Given the description of an element on the screen output the (x, y) to click on. 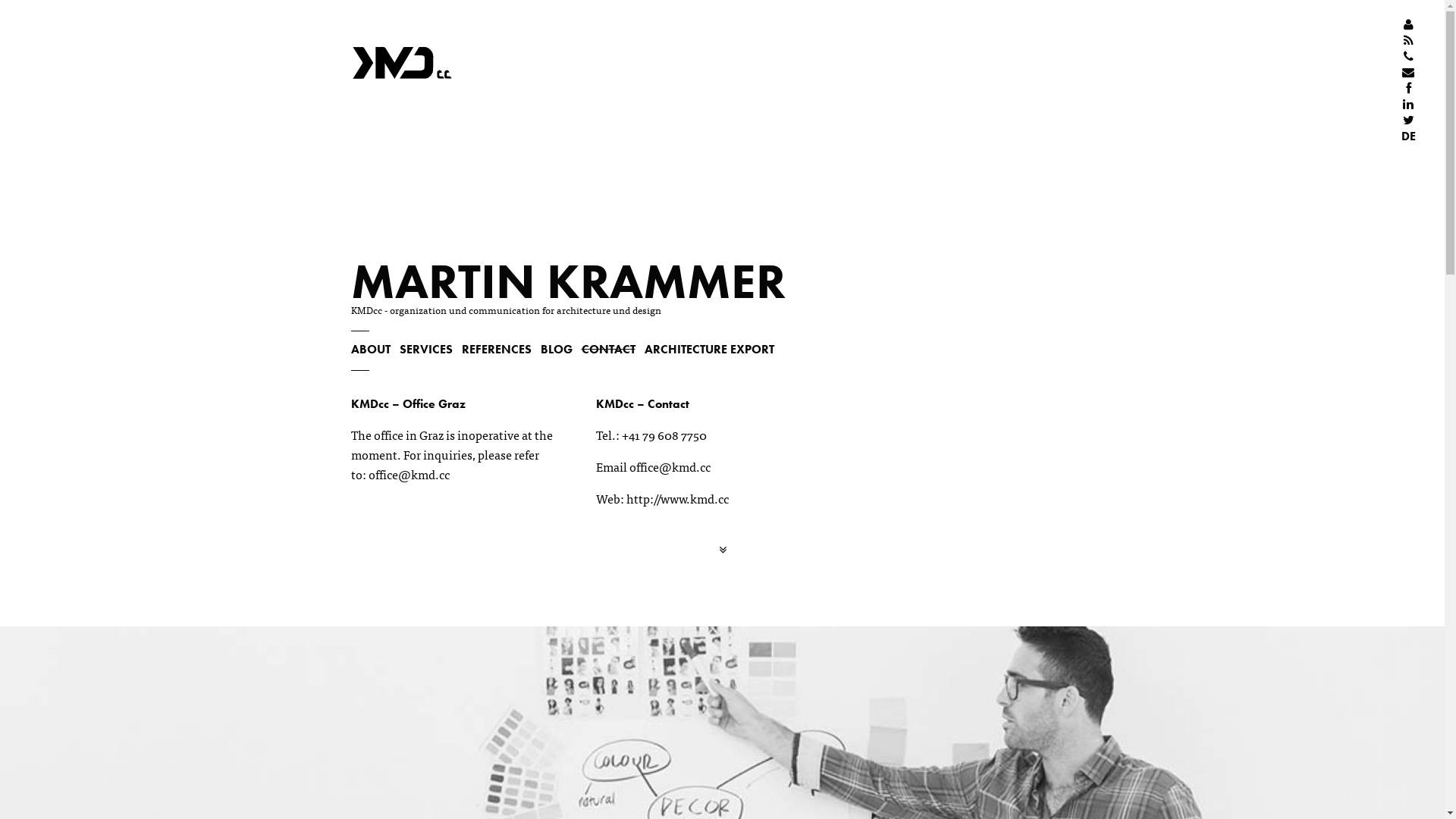
SERVICES Element type: text (424, 349)
office@kmd.cc Element type: text (669, 466)
office@kmd.cc Element type: text (408, 473)
ARCHITECTURE EXPORT Element type: text (709, 349)
ABOUT Element type: text (369, 349)
REFERENCES Element type: text (495, 349)
http://www.kmd.cc Element type: text (677, 498)
CONTACT Element type: text (607, 349)
BLOG Element type: text (555, 349)
DE Element type: text (1408, 136)
